Given the description of an element on the screen output the (x, y) to click on. 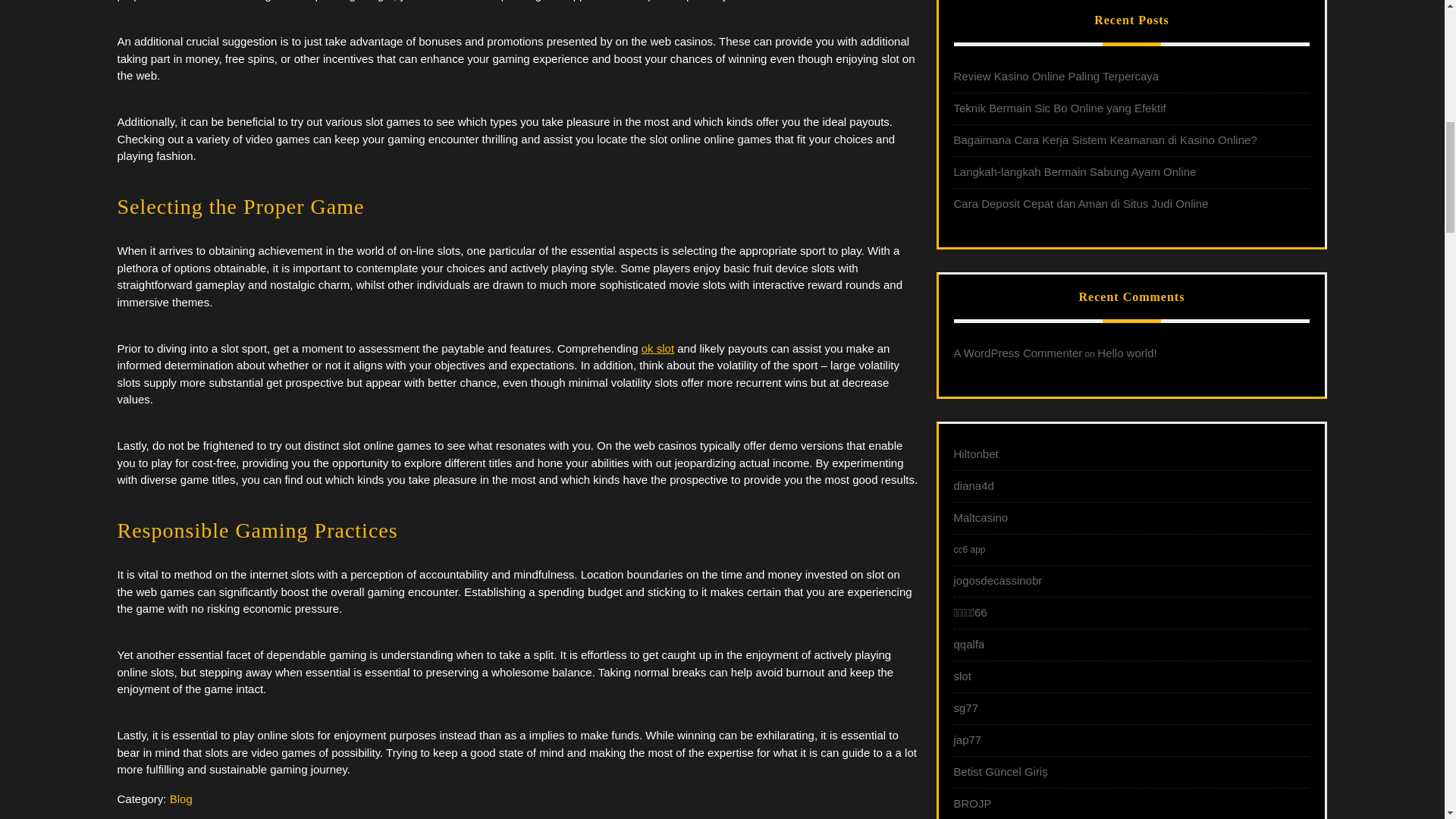
A WordPress Commenter (1018, 352)
jap77 (967, 739)
cc6 app (969, 549)
sg77 (965, 707)
Cara Deposit Cepat dan Aman di Situs Judi Online (1080, 203)
jogosdecassinobr (997, 580)
Langkah-langkah Bermain Sabung Ayam Online (1074, 171)
Teknik Bermain Sic Bo Online yang Efektif (1059, 107)
ok slot (658, 348)
Hello world! (1126, 352)
Hiltonbet (975, 453)
qqalfa (969, 644)
diana4d (973, 485)
Blog (181, 798)
Review Kasino Online Paling Terpercaya (1055, 75)
